Given the description of an element on the screen output the (x, y) to click on. 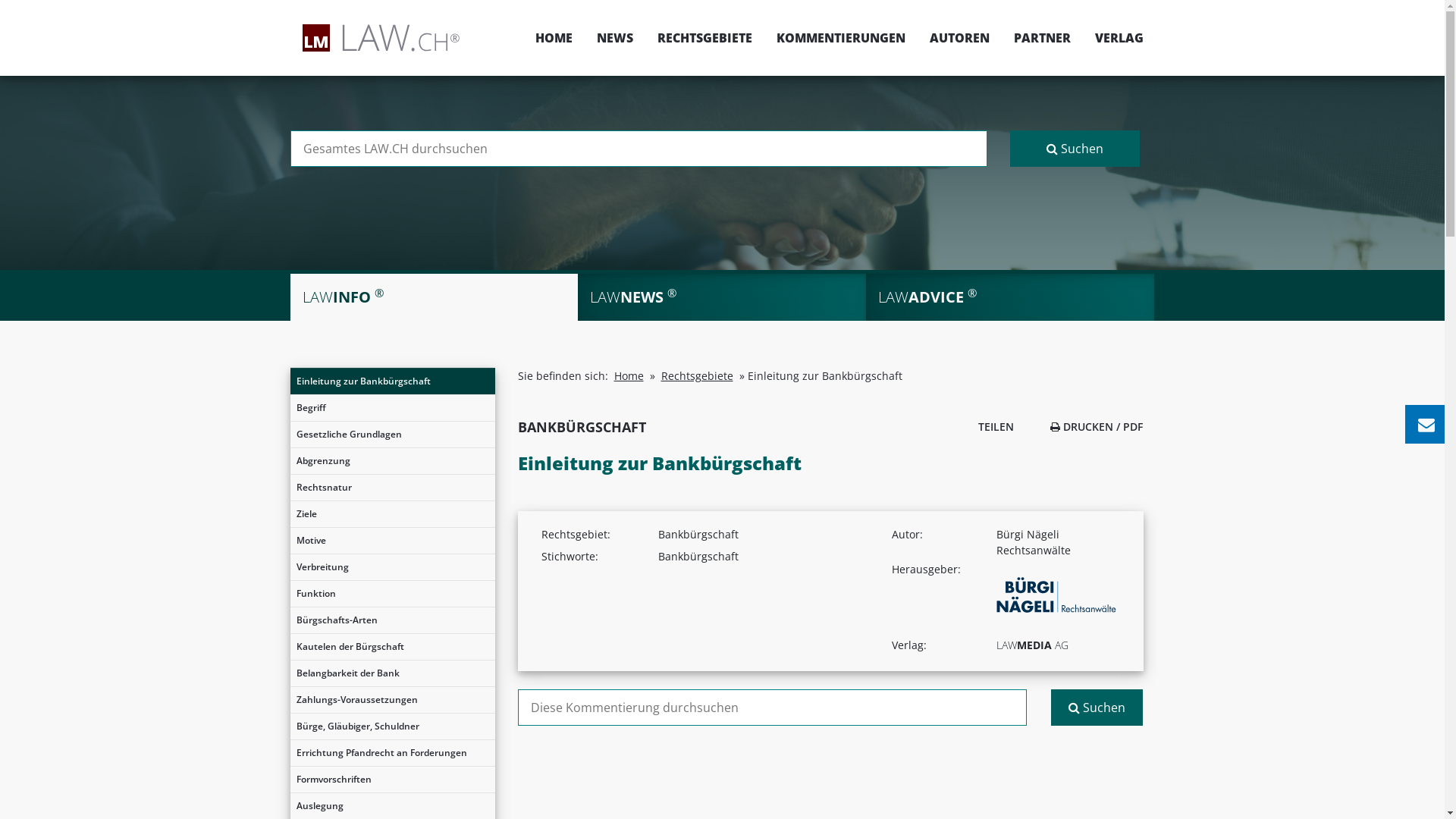
Suchen nach: Element type: hover (771, 707)
AUTOREN Element type: text (959, 37)
 TEILEN Element type: text (991, 426)
PARTNER Element type: text (1041, 37)
Rechtsnatur Element type: text (391, 487)
Home Element type: text (628, 375)
Rechtsgebiete Element type: text (697, 375)
Ziele Element type: text (391, 514)
Belangbarkeit der Bank Element type: text (391, 673)
KOMMENTIERUNGEN Element type: text (840, 37)
Gesetzliche Grundlagen Element type: text (391, 434)
Abgrenzung Element type: text (391, 460)
VERLAG Element type: text (1112, 37)
RECHTSGEBIETE Element type: text (703, 37)
NEWS Element type: text (613, 37)
Zahlungs-Voraussetzungen Element type: text (391, 699)
Begriff Element type: text (391, 407)
 DRUCKEN / PDF Element type: text (1096, 426)
Motive Element type: text (391, 540)
Formvorschriften Element type: text (391, 779)
Verbreitung Element type: text (391, 567)
Suchen nach: Element type: hover (637, 148)
Skip to content Element type: text (1443, 0)
Errichtung Pfandrecht an Forderungen Element type: text (391, 752)
HOME Element type: text (553, 37)
Funktion Element type: text (391, 593)
